Given the description of an element on the screen output the (x, y) to click on. 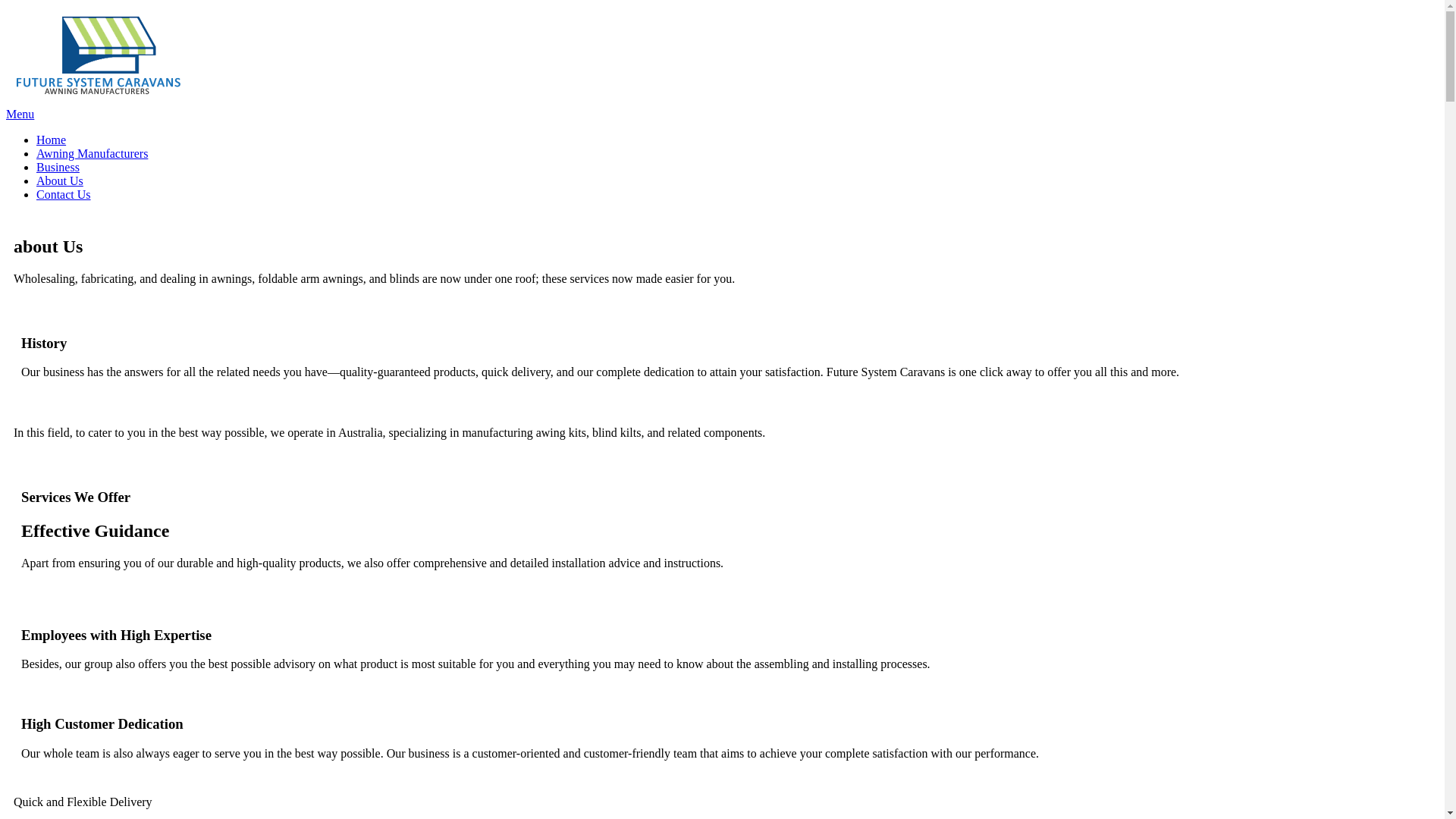
Contact Us Element type: text (63, 194)
Home Element type: text (50, 139)
Awning Manufacturers Element type: text (91, 153)
Menu Element type: text (20, 113)
Business Element type: text (57, 166)
About Us Element type: text (59, 180)
Skip to content Element type: text (42, 12)
